Given the description of an element on the screen output the (x, y) to click on. 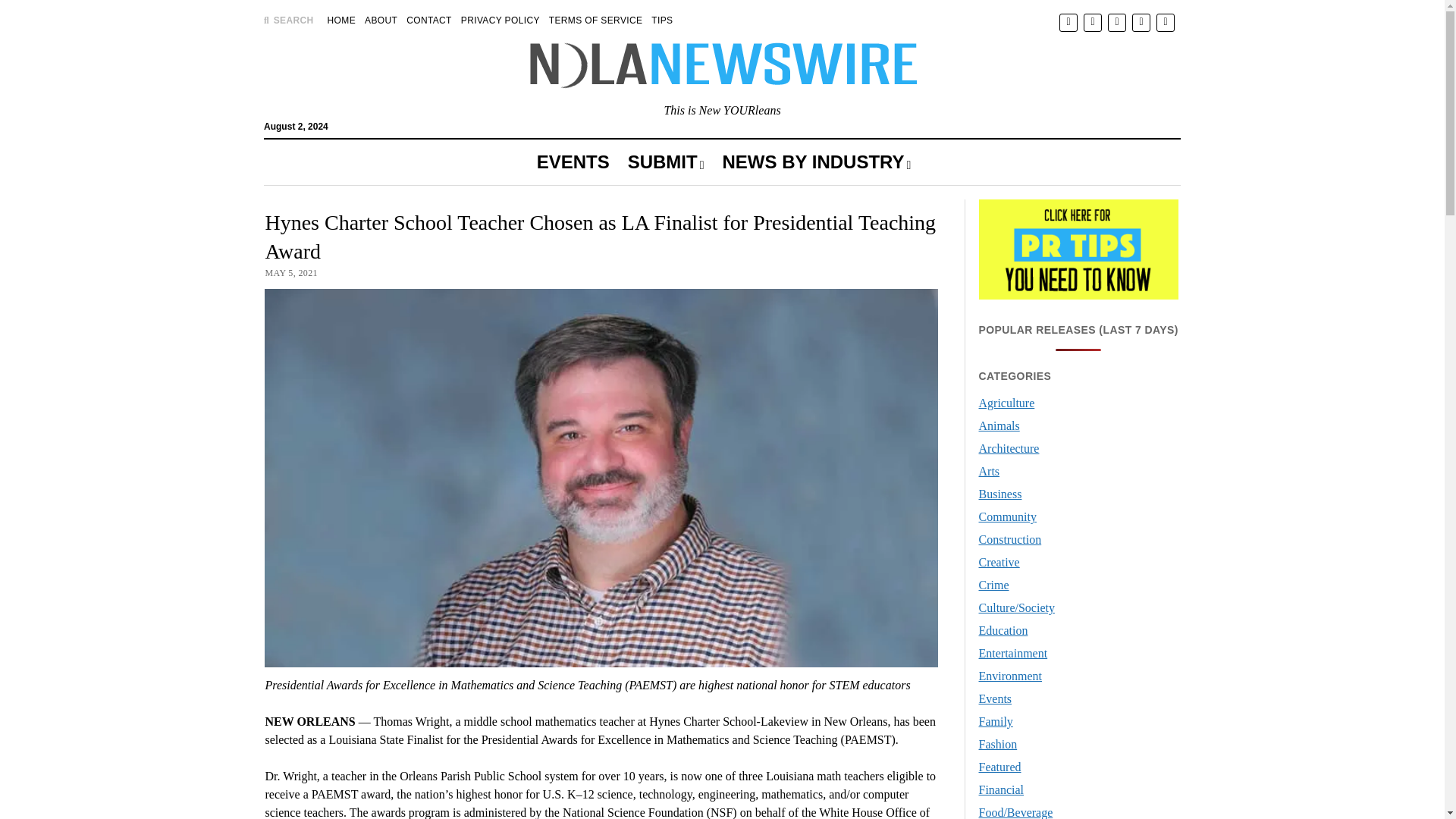
Search (945, 129)
CONTACT (428, 20)
TERMS OF SERVICE (595, 20)
TIPS (661, 20)
EVENTS (572, 162)
PRIVACY POLICY (500, 20)
SEARCH (288, 20)
ABOUT (381, 20)
HOME (341, 20)
SUBMIT (665, 162)
NEWS BY INDUSTRY (816, 162)
